Given the description of an element on the screen output the (x, y) to click on. 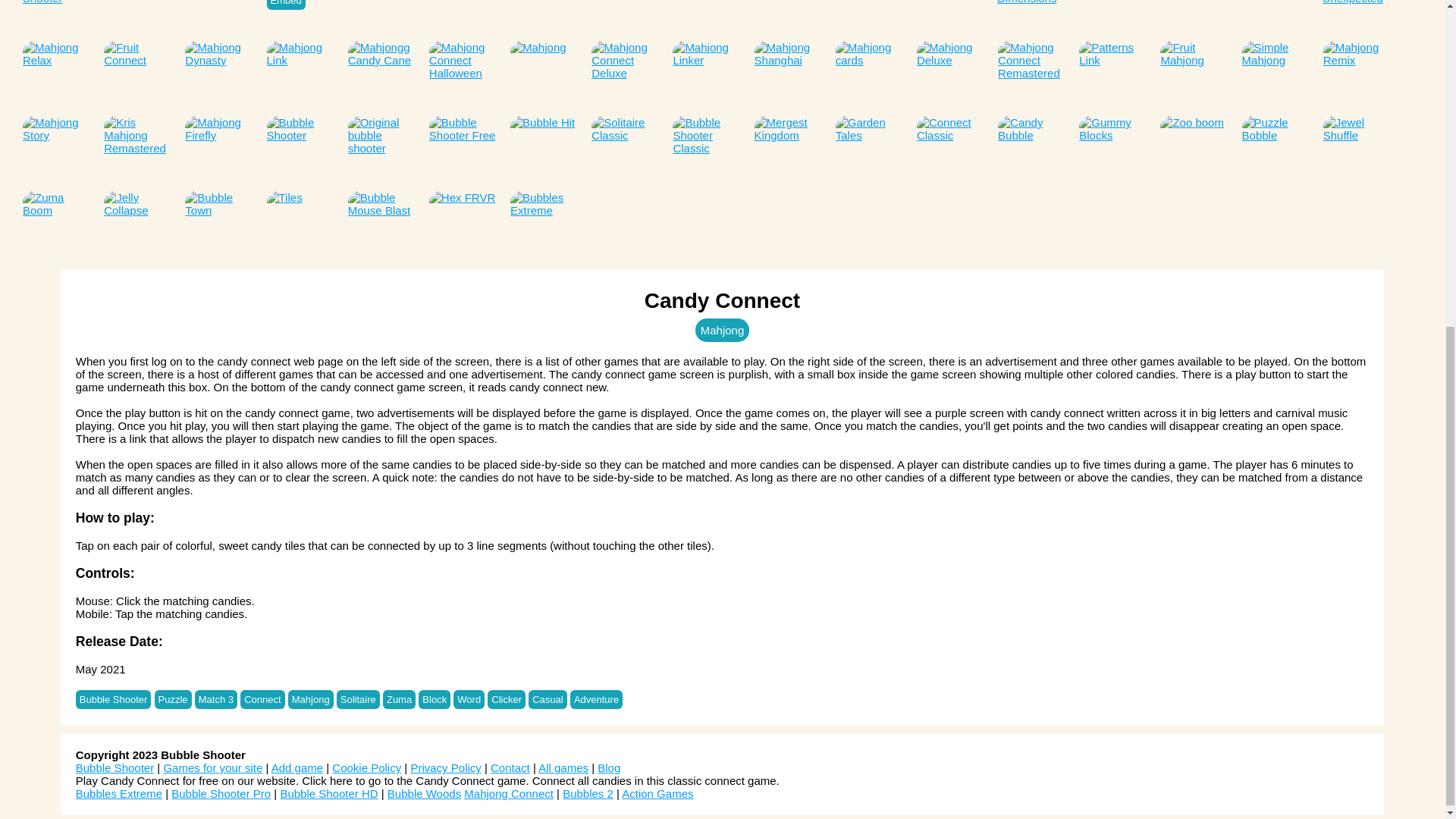
Embed (285, 4)
Bejeweled (137, 17)
Original Bubble Shooter (56, 17)
